Given the description of an element on the screen output the (x, y) to click on. 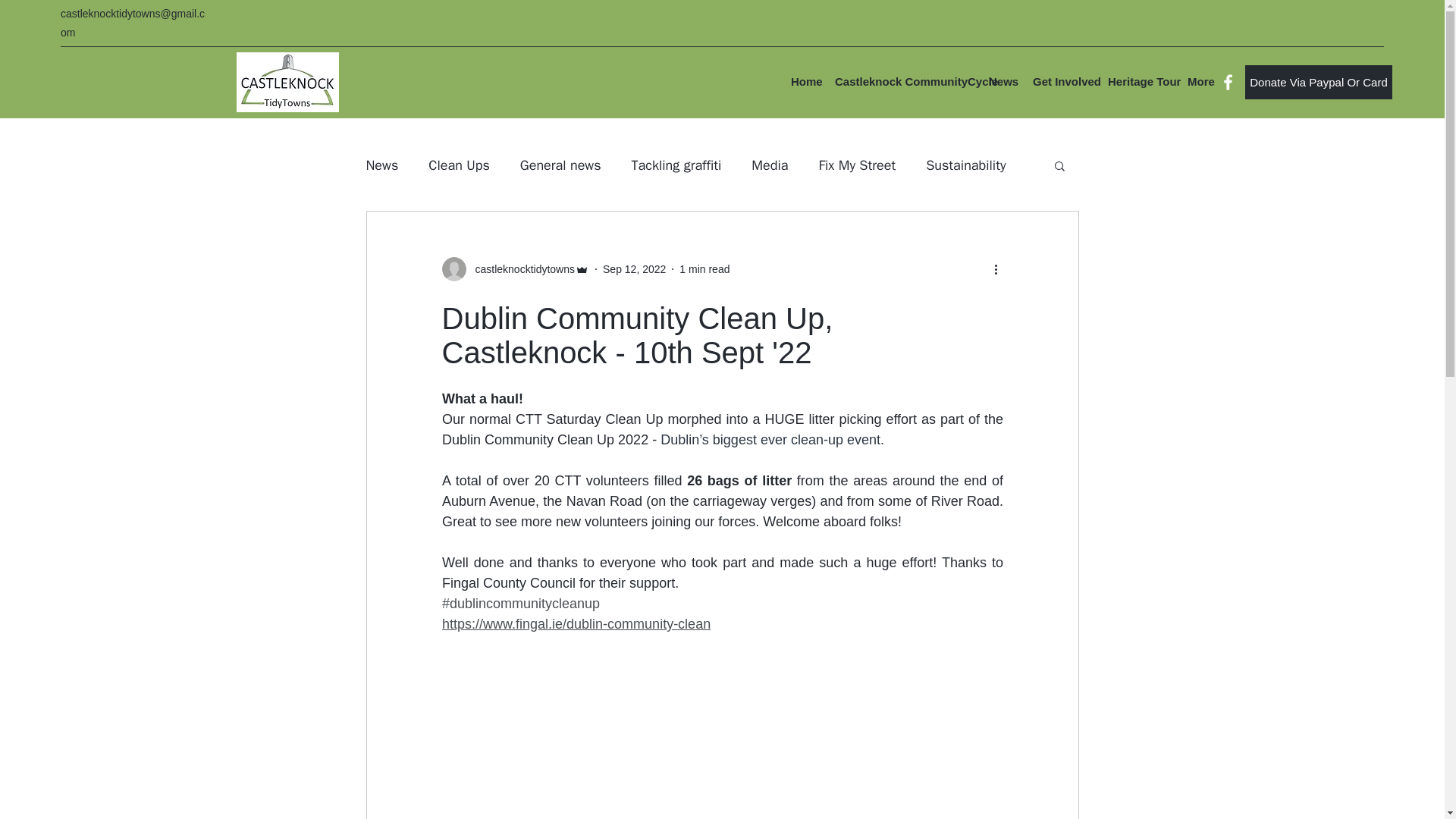
Fix My Street (856, 165)
Heritage Tour (1139, 81)
Get Involved (1062, 81)
Clean Ups (458, 165)
Donate Via Paypal Or Card (1317, 82)
General news (560, 165)
News (1003, 81)
Tackling graffiti (676, 165)
Home (805, 81)
Media (769, 165)
